Given the description of an element on the screen output the (x, y) to click on. 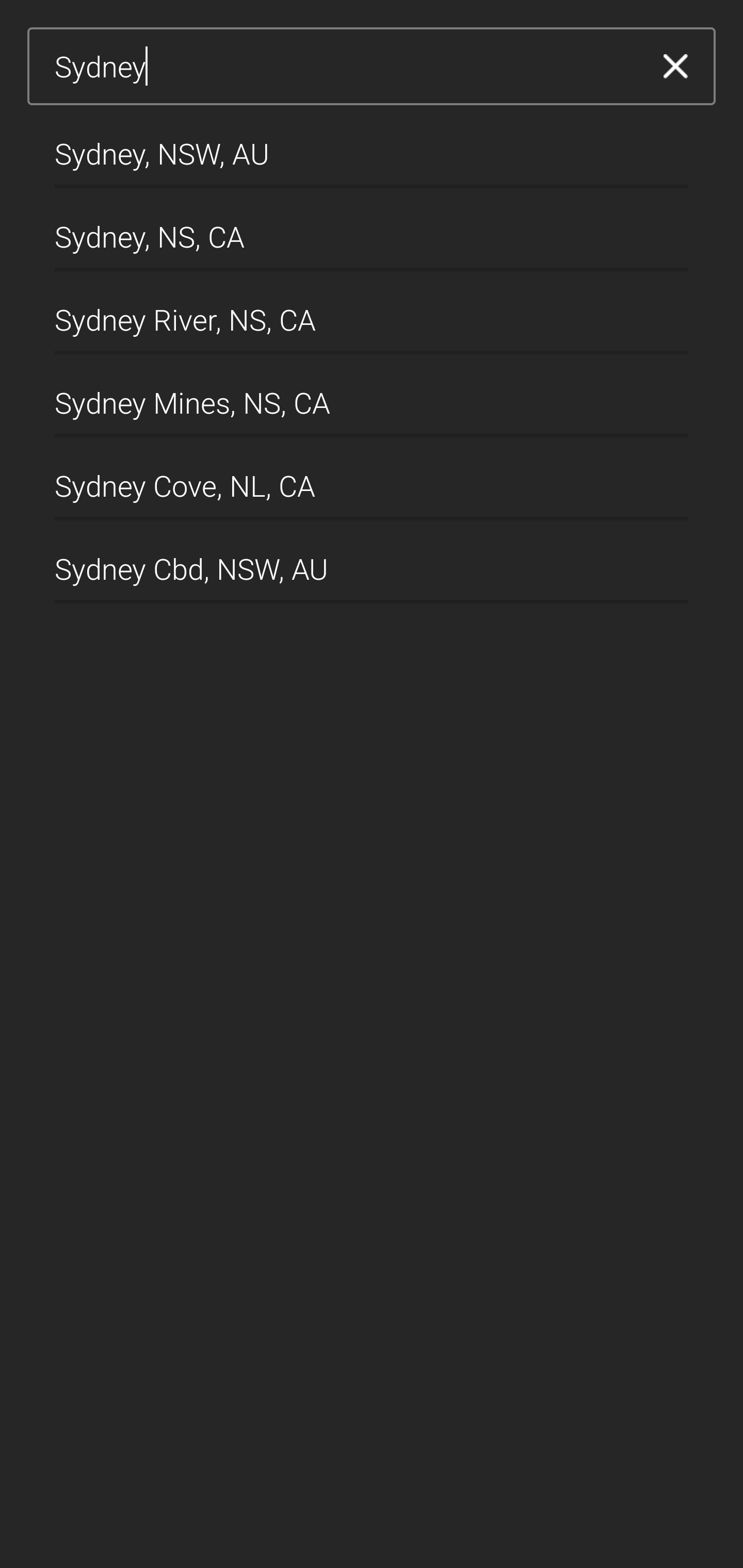
Sydney (345, 66)
Sydney, NSW, AU (371, 146)
Sydney, NS, CA (371, 229)
Sydney River, NS, CA (371, 312)
Sydney Mines, NS, CA (371, 395)
Sydney Cove, NL, CA (371, 478)
Sydney Cbd, NSW, AU (371, 561)
